Given the description of an element on the screen output the (x, y) to click on. 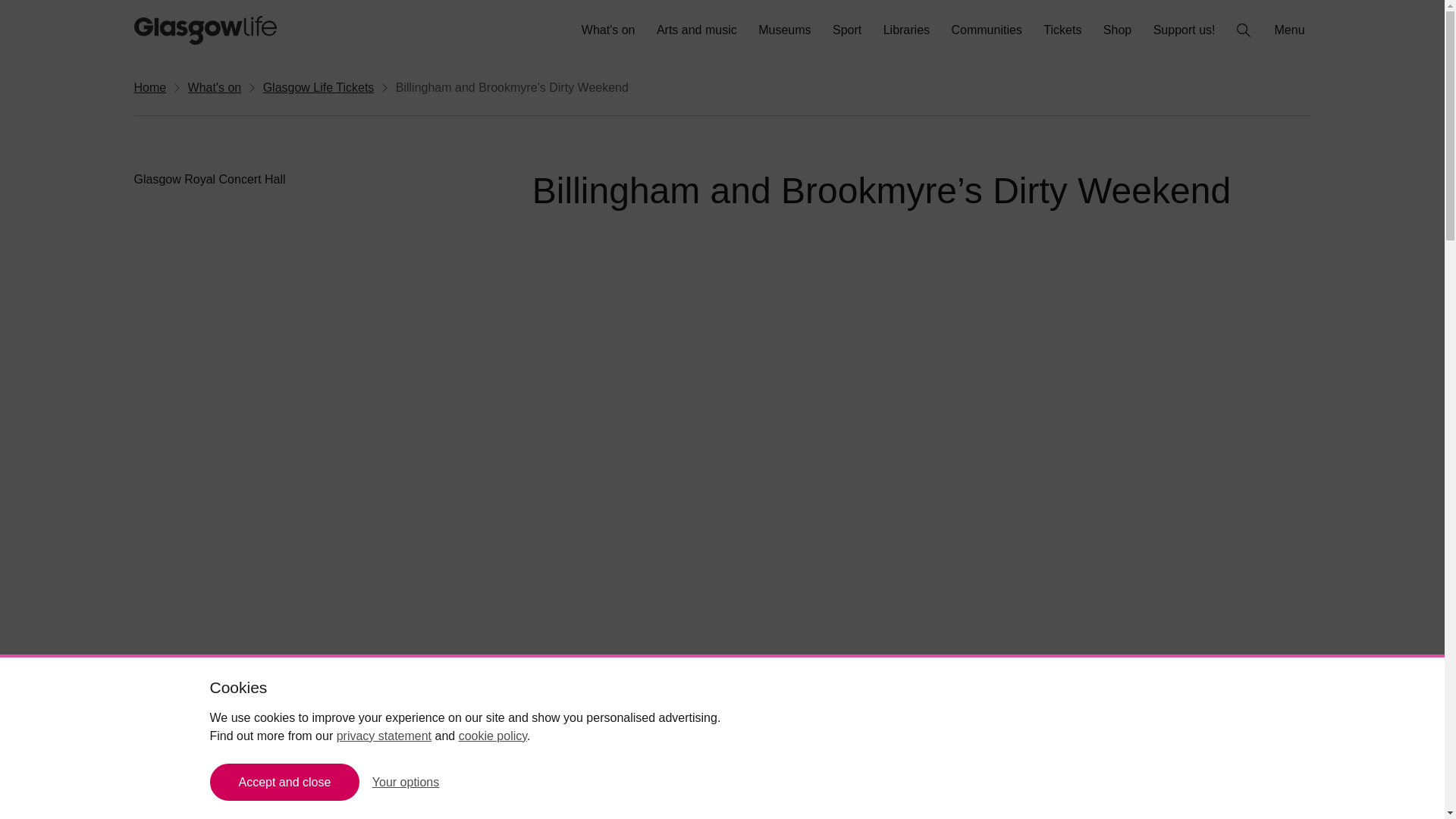
Libraries (906, 30)
Your options (405, 781)
Tickets (1062, 30)
Support us! (1184, 30)
Communities (986, 30)
Museums (784, 30)
Accept and close (284, 781)
privacy statement (383, 735)
cookie policy (492, 735)
What's on (607, 30)
